Given the description of an element on the screen output the (x, y) to click on. 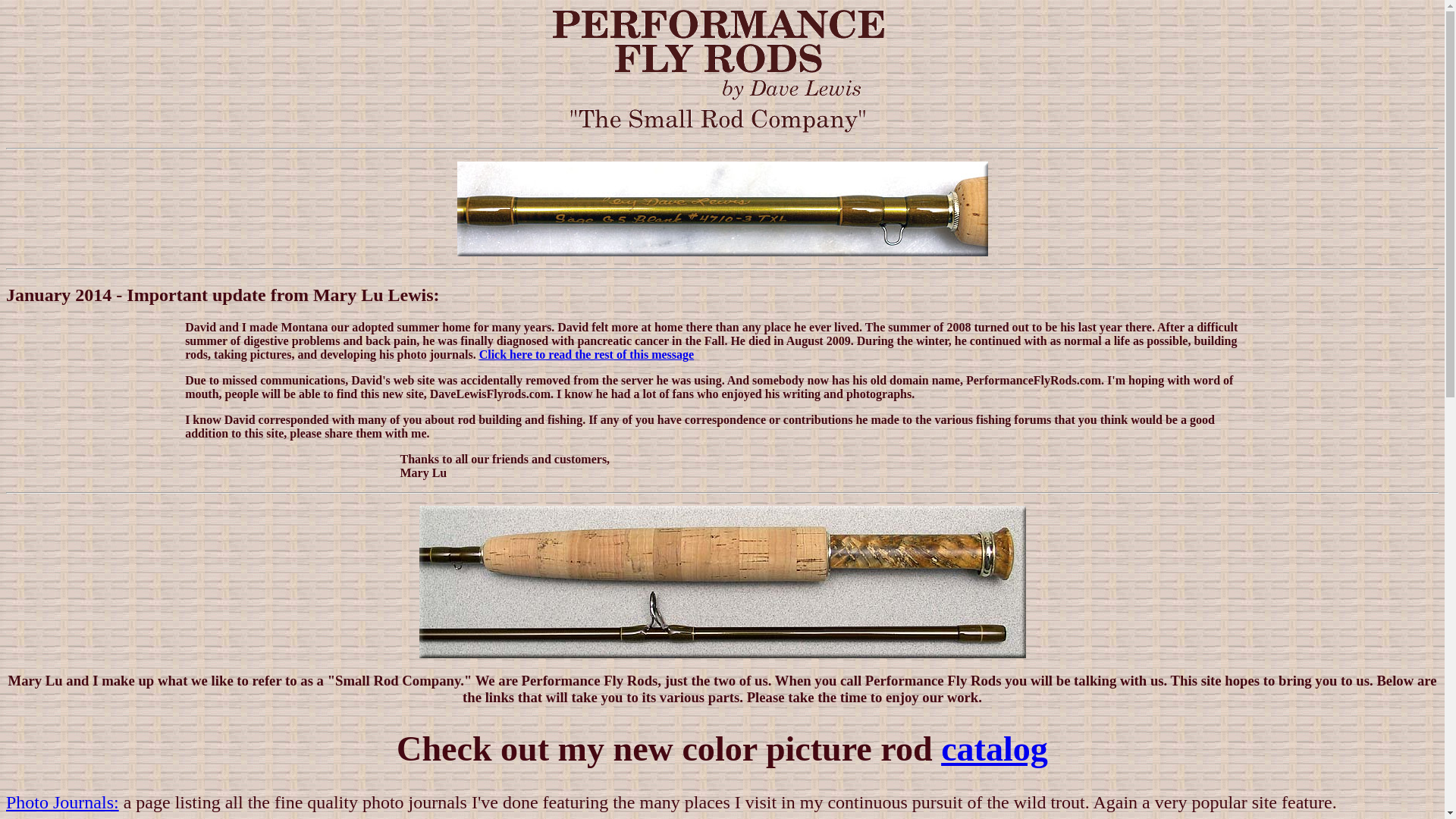
Click here to read the rest of this message (586, 354)
catalog (994, 748)
Photo Journals: (62, 802)
